Given the description of an element on the screen output the (x, y) to click on. 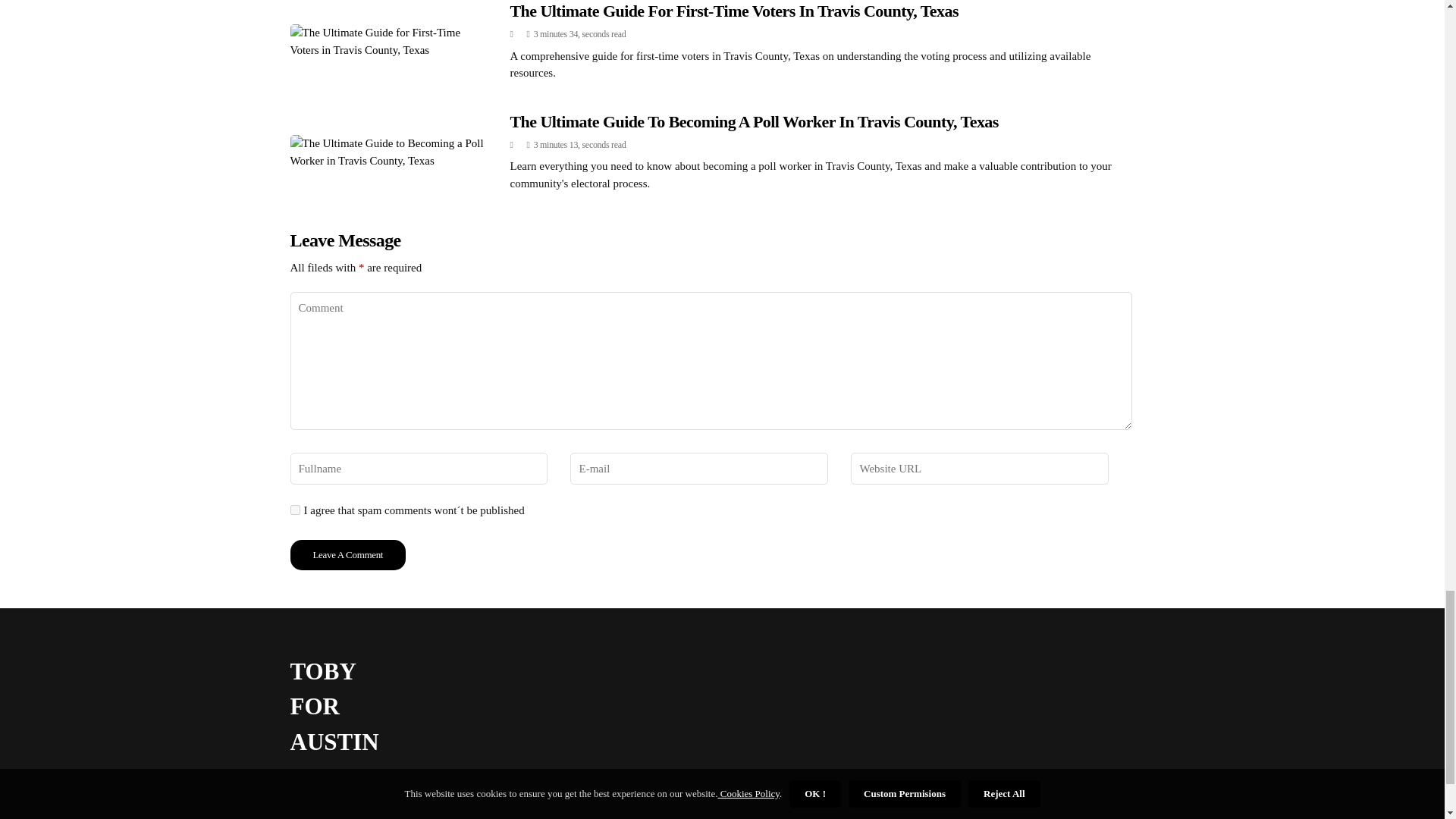
Leave a Comment (347, 554)
Leave a Comment (347, 554)
yes (294, 510)
